Given the description of an element on the screen output the (x, y) to click on. 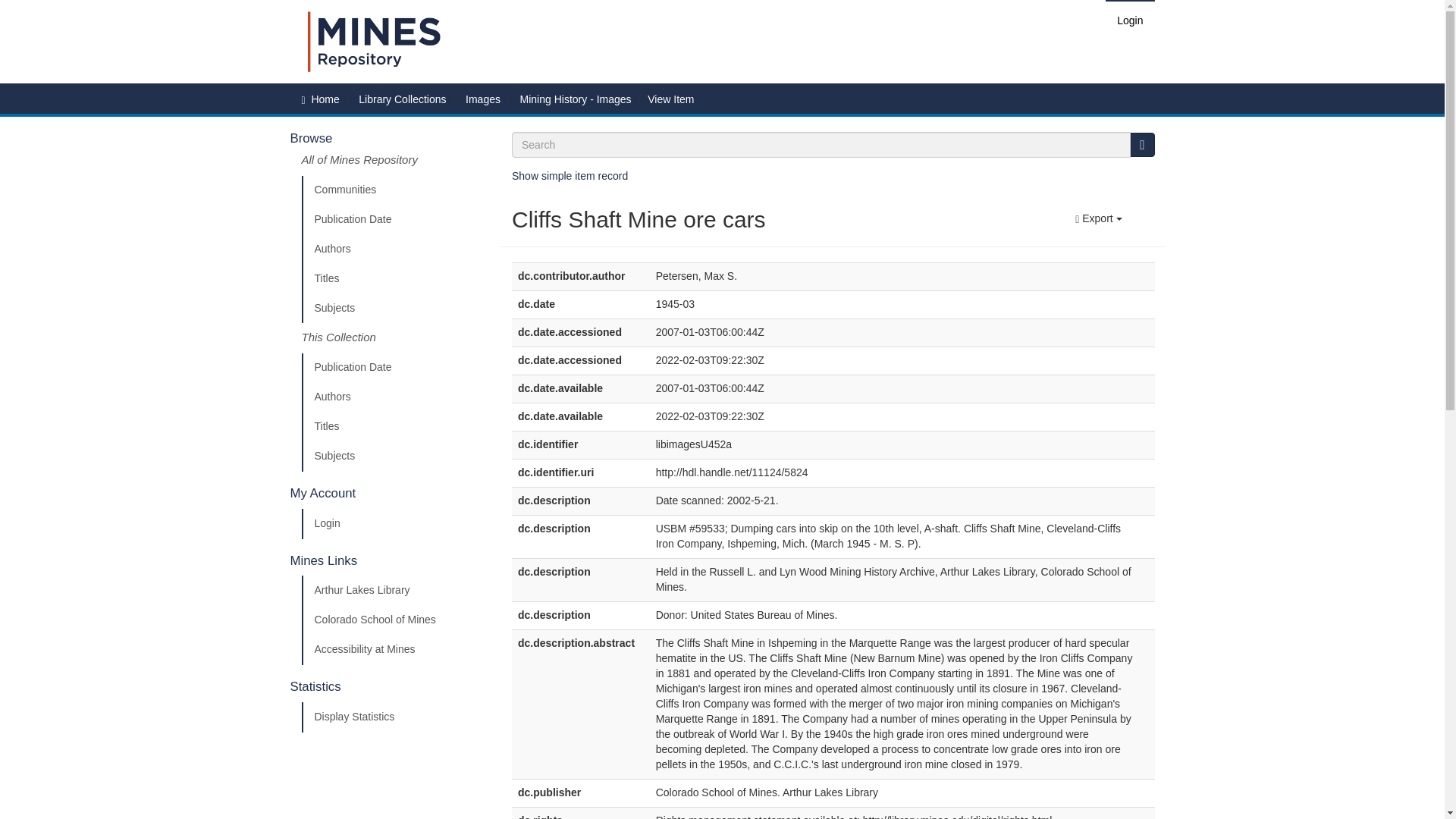
Home (325, 99)
Images (482, 99)
Subjects (395, 456)
Export (1098, 218)
Subjects (395, 308)
Library Collections (401, 99)
Titles (395, 278)
This Collection (395, 337)
Publication Date (395, 367)
Publication Date (395, 219)
